Given the description of an element on the screen output the (x, y) to click on. 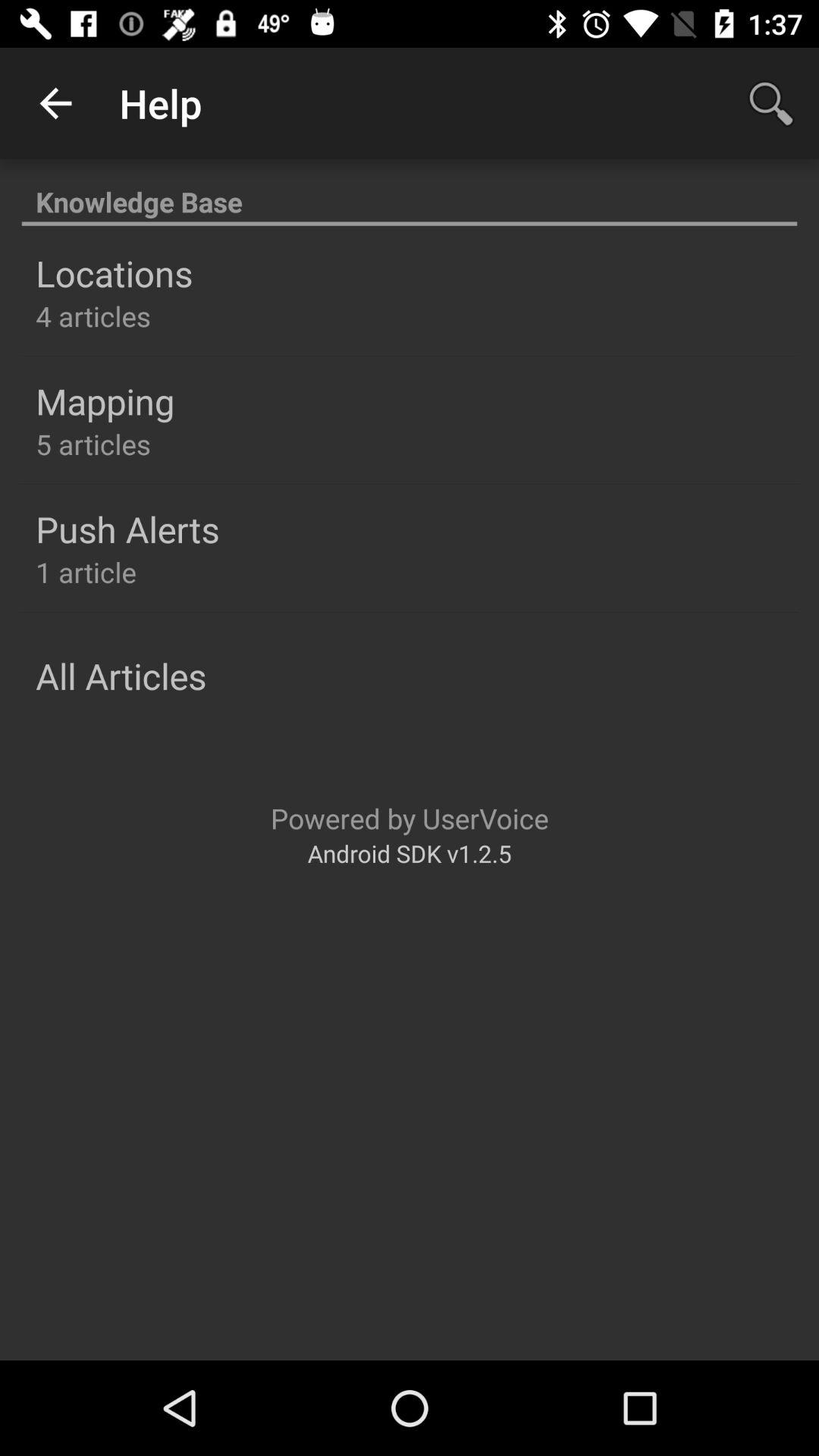
jump to 1 article (85, 571)
